Given the description of an element on the screen output the (x, y) to click on. 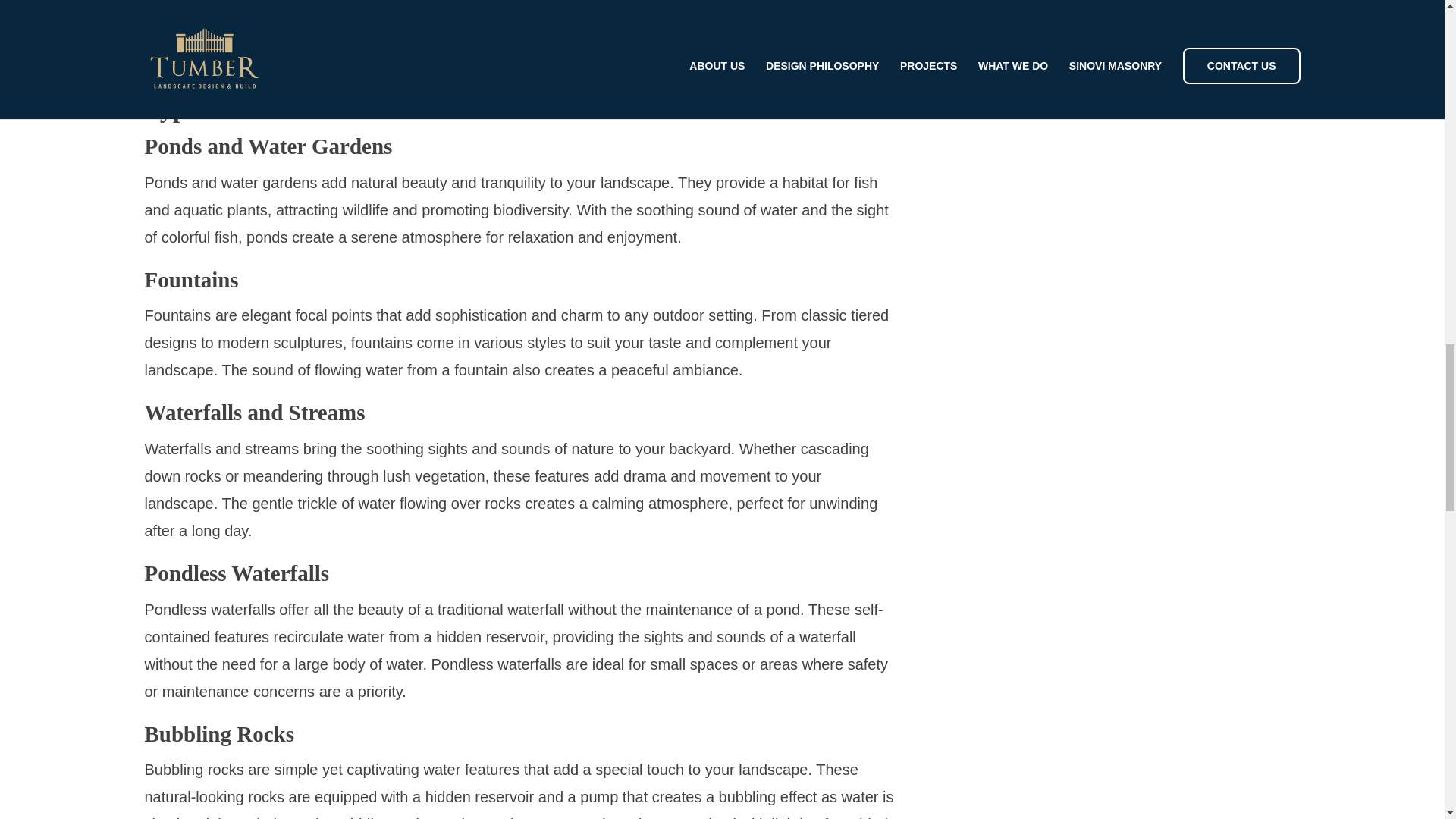
YouTube video player (518, 31)
